Given the description of an element on the screen output the (x, y) to click on. 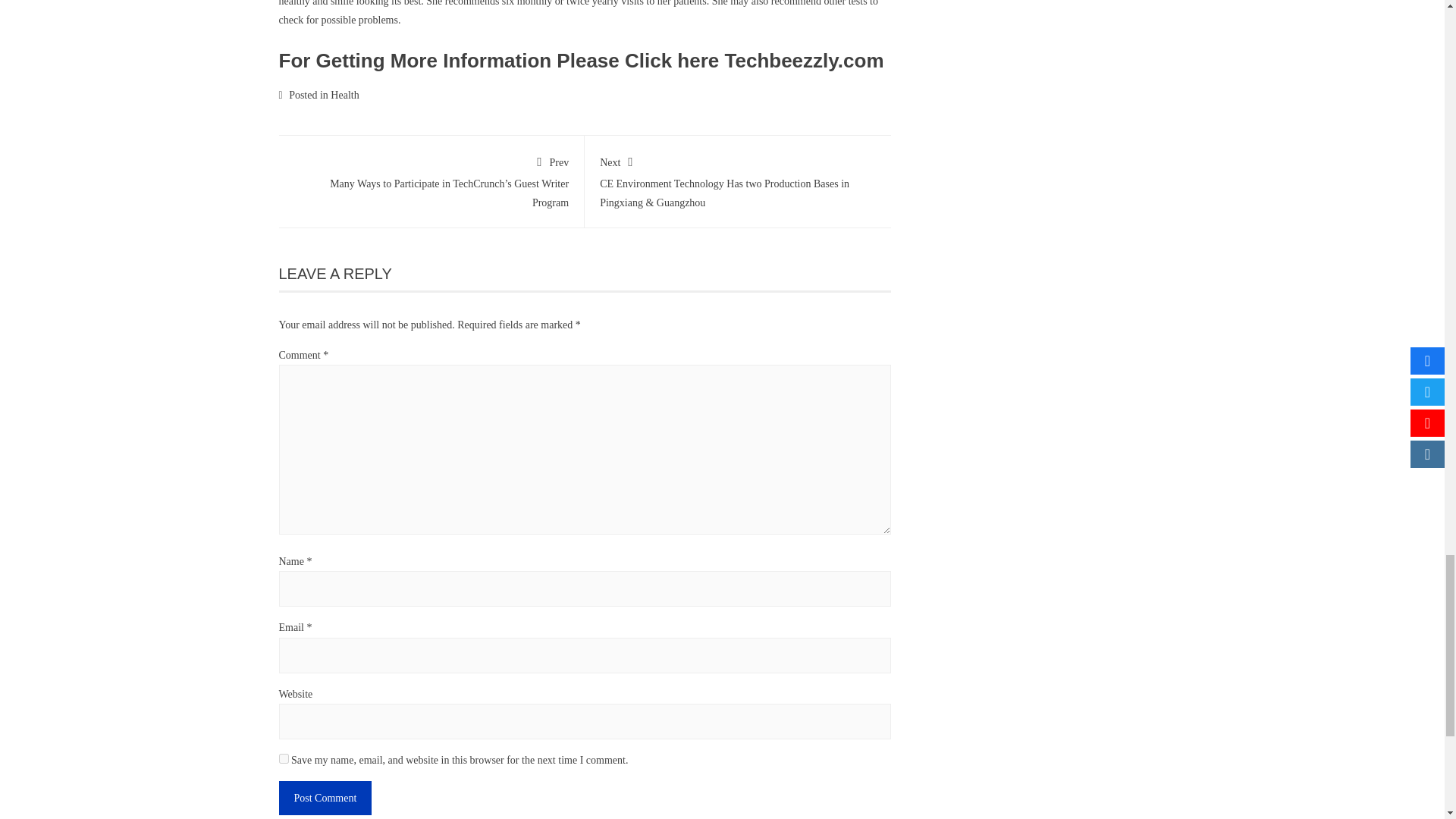
Post Comment (325, 797)
Health (344, 94)
Techbeezzly.com (804, 60)
Post Comment (325, 797)
yes (283, 758)
